Given the description of an element on the screen output the (x, y) to click on. 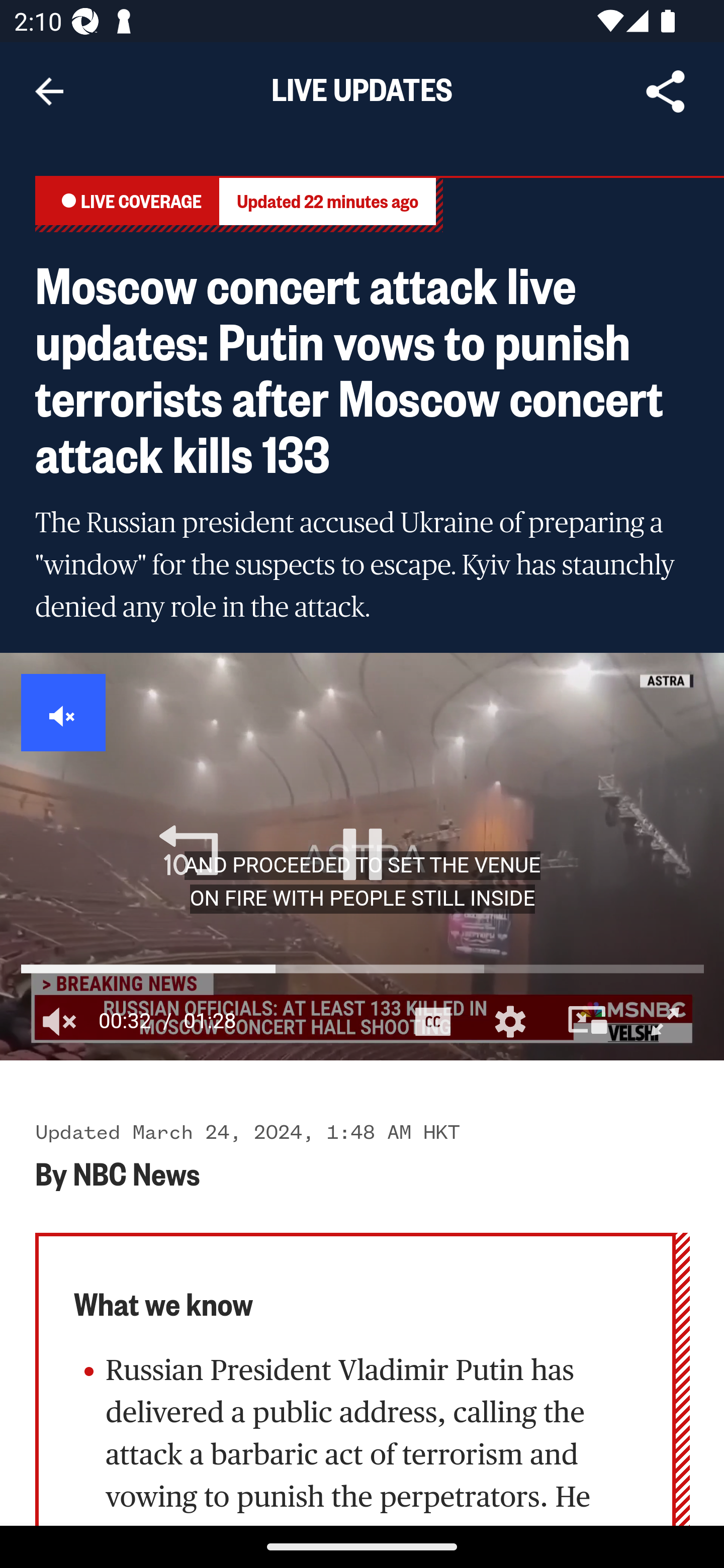
Navigate up (49, 91)
Share Article, button (665, 91)
 (63, 712)
Rewind 10 Seconds (187, 853)
Pause (362, 853)
0 seconds of 1 minute, 28 seconds, Seek (362, 968)
Volume (59, 1020)
Closed Captions (432, 1020)
Settings (509, 1020)
Picture in Picture (PiP) (587, 1020)
Fullscreen (665, 1020)
